Given the description of an element on the screen output the (x, y) to click on. 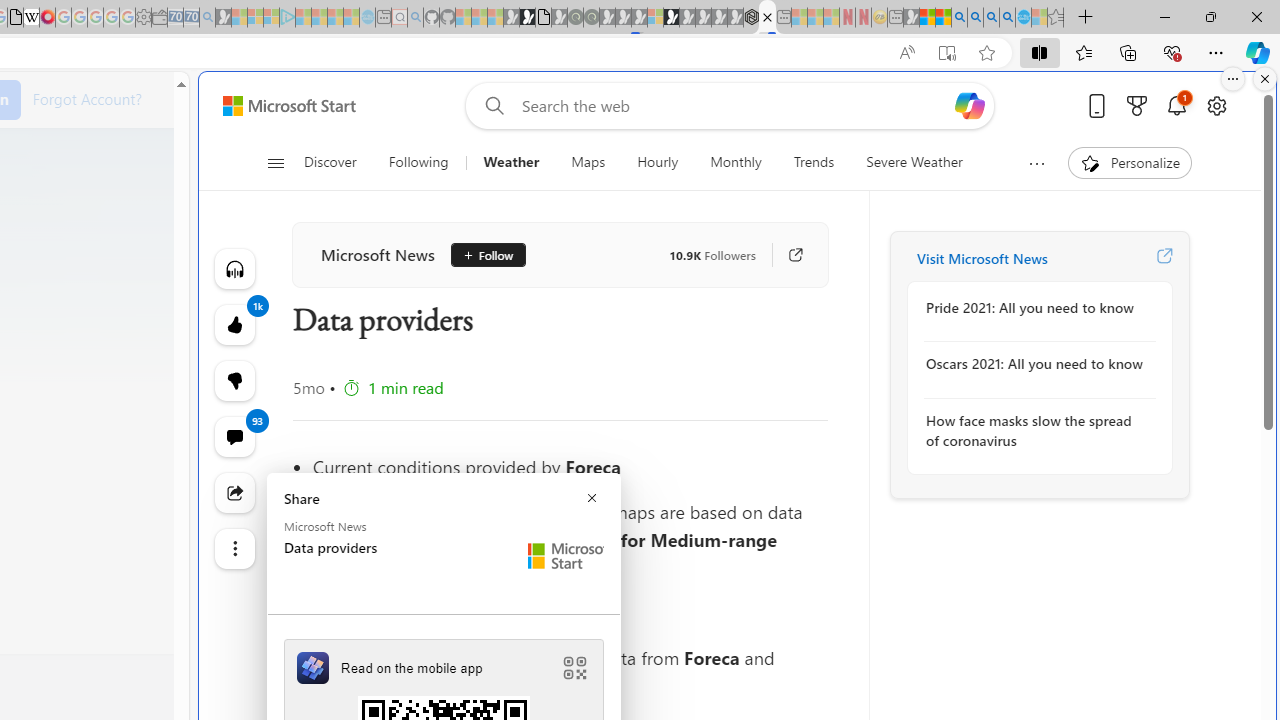
Trends (813, 162)
Microsoft Start Logo (565, 555)
Severe Weather (914, 162)
1k Like (234, 324)
Open navigation menu (275, 162)
Sign in to your account - Sleeping (655, 17)
